Given the description of an element on the screen output the (x, y) to click on. 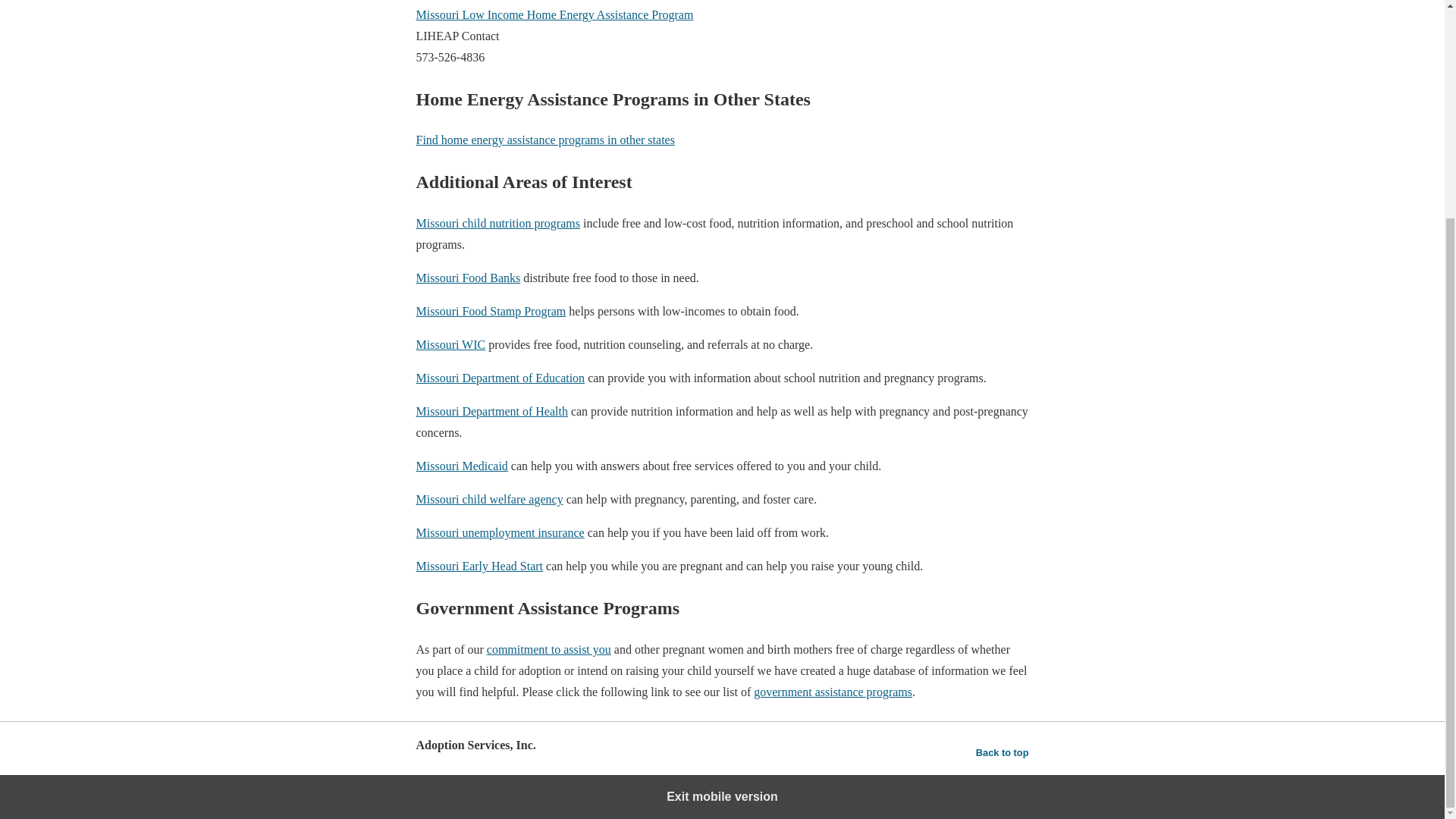
Missouri child nutrition programs (496, 223)
Missouri Early Head Start (478, 565)
Back to top (1002, 752)
government assistance programs (833, 691)
Missouri Department of Health (490, 410)
Missouri unemployment insurance (498, 532)
Missouri Food Stamp Program (490, 310)
Find home energy assistance programs in other states (544, 139)
Missouri Low Income Home Energy Assistance Program (553, 14)
Missouri Medicaid (460, 465)
